Given the description of an element on the screen output the (x, y) to click on. 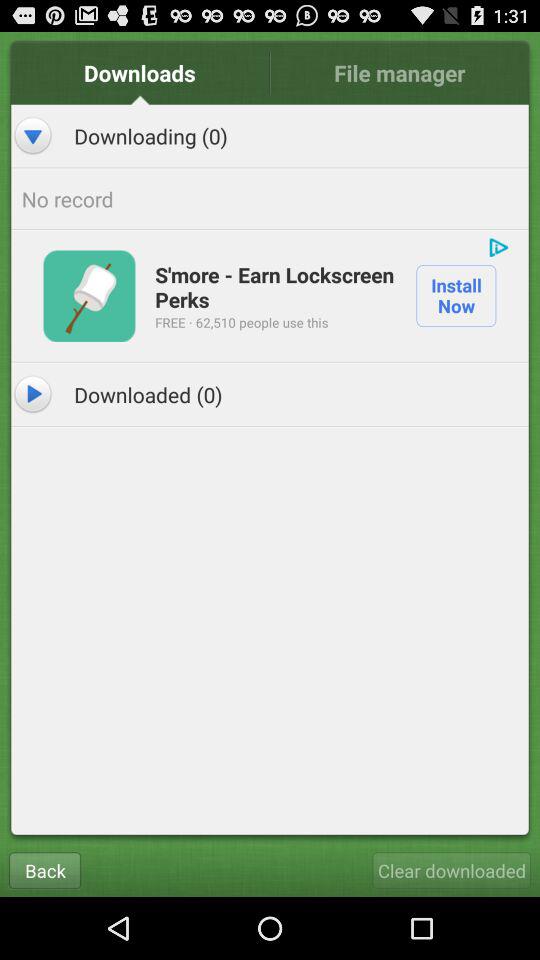
tap back at the bottom left corner (44, 870)
